Given the description of an element on the screen output the (x, y) to click on. 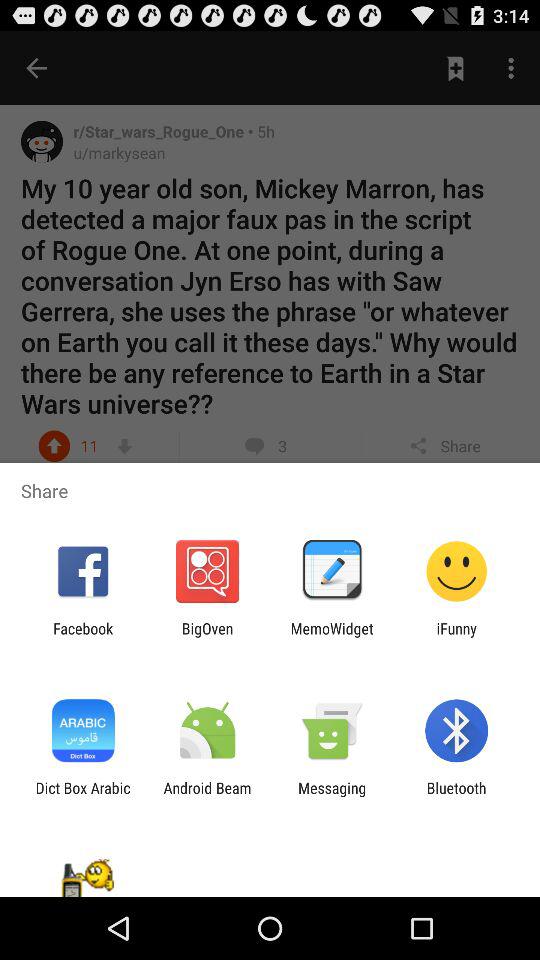
turn on item to the right of messaging (456, 796)
